Given the description of an element on the screen output the (x, y) to click on. 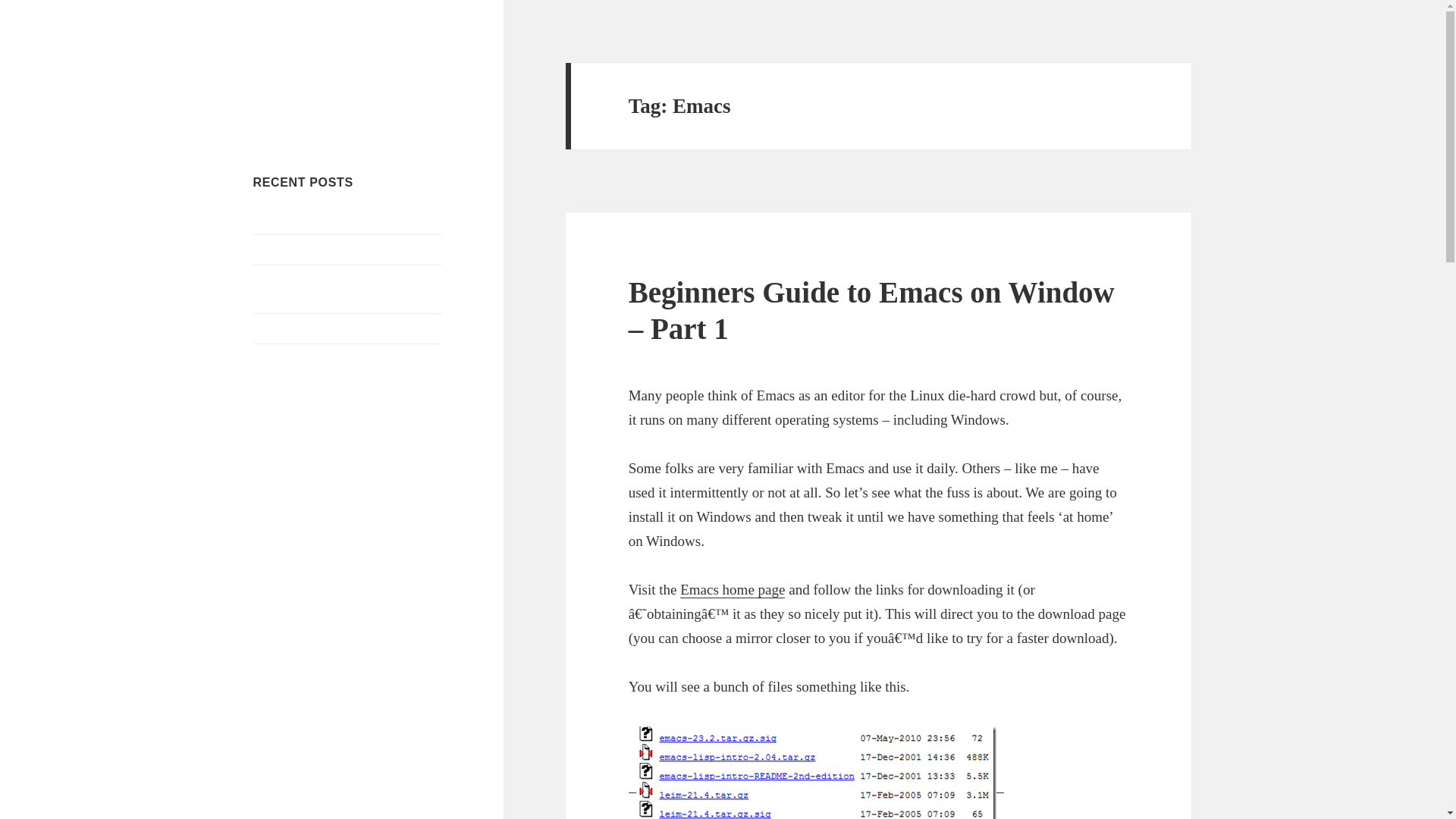
Google Chrome Extensions (320, 327)
Docker problems with VT-d (321, 218)
.gitignore, Visual Studio and NuGet (340, 248)
What Operating System? (314, 358)
Emacs home page (731, 589)
Tinkering with Technology (322, 86)
image (815, 772)
